Given the description of an element on the screen output the (x, y) to click on. 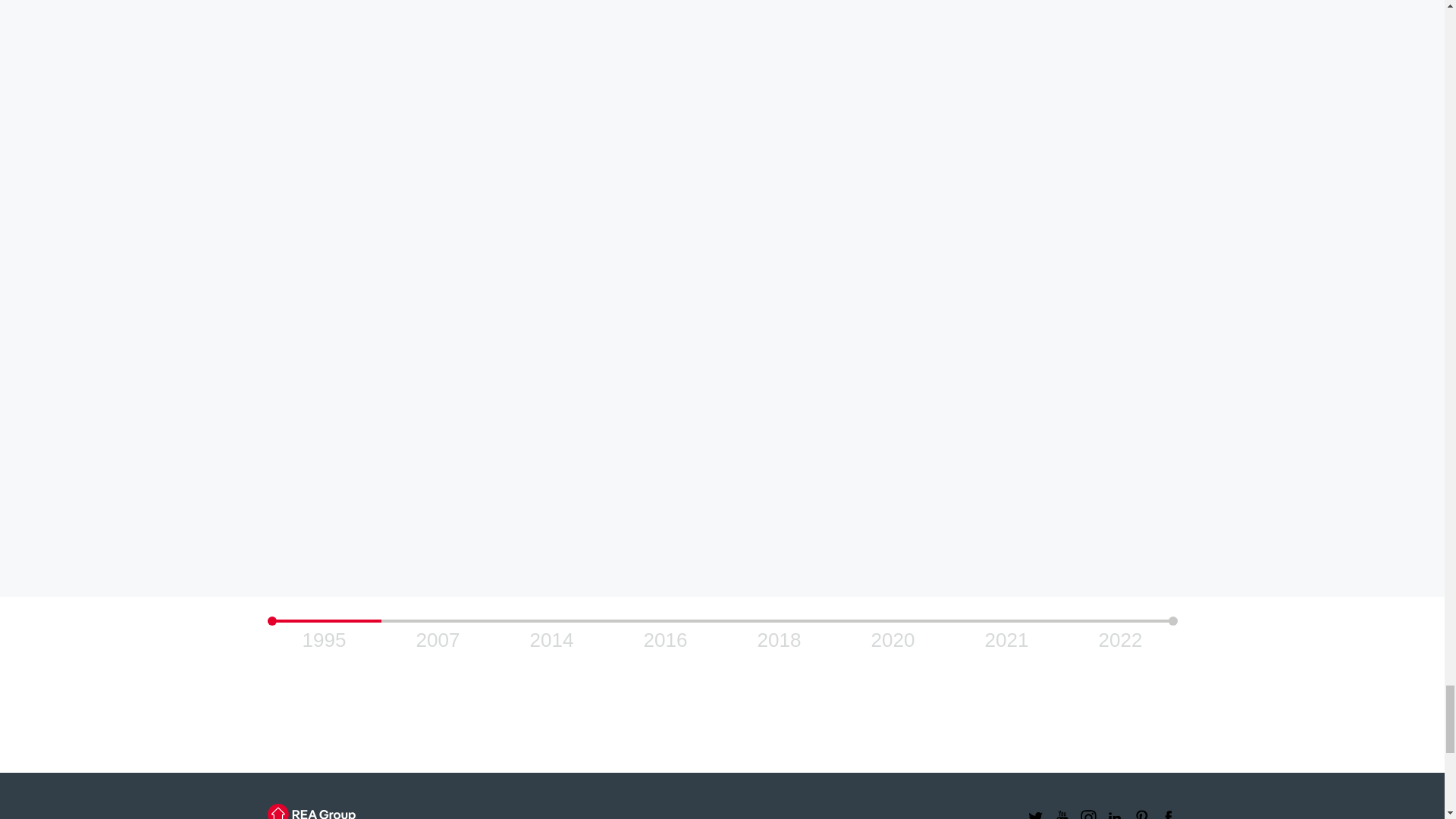
1995 (324, 637)
Flatmates.com.au (577, 422)
realestate.com.au (721, 172)
realcommercial.com.au (721, 214)
realtor.com (721, 255)
REA India (808, 422)
Mortgage Choice (635, 422)
2016 (665, 637)
Simpology (750, 422)
PropTrack (721, 338)
PropTiger.com (721, 296)
Realtair (721, 380)
Housing.com (664, 296)
Campaign Agent (692, 422)
makaan.com (779, 296)
